Given the description of an element on the screen output the (x, y) to click on. 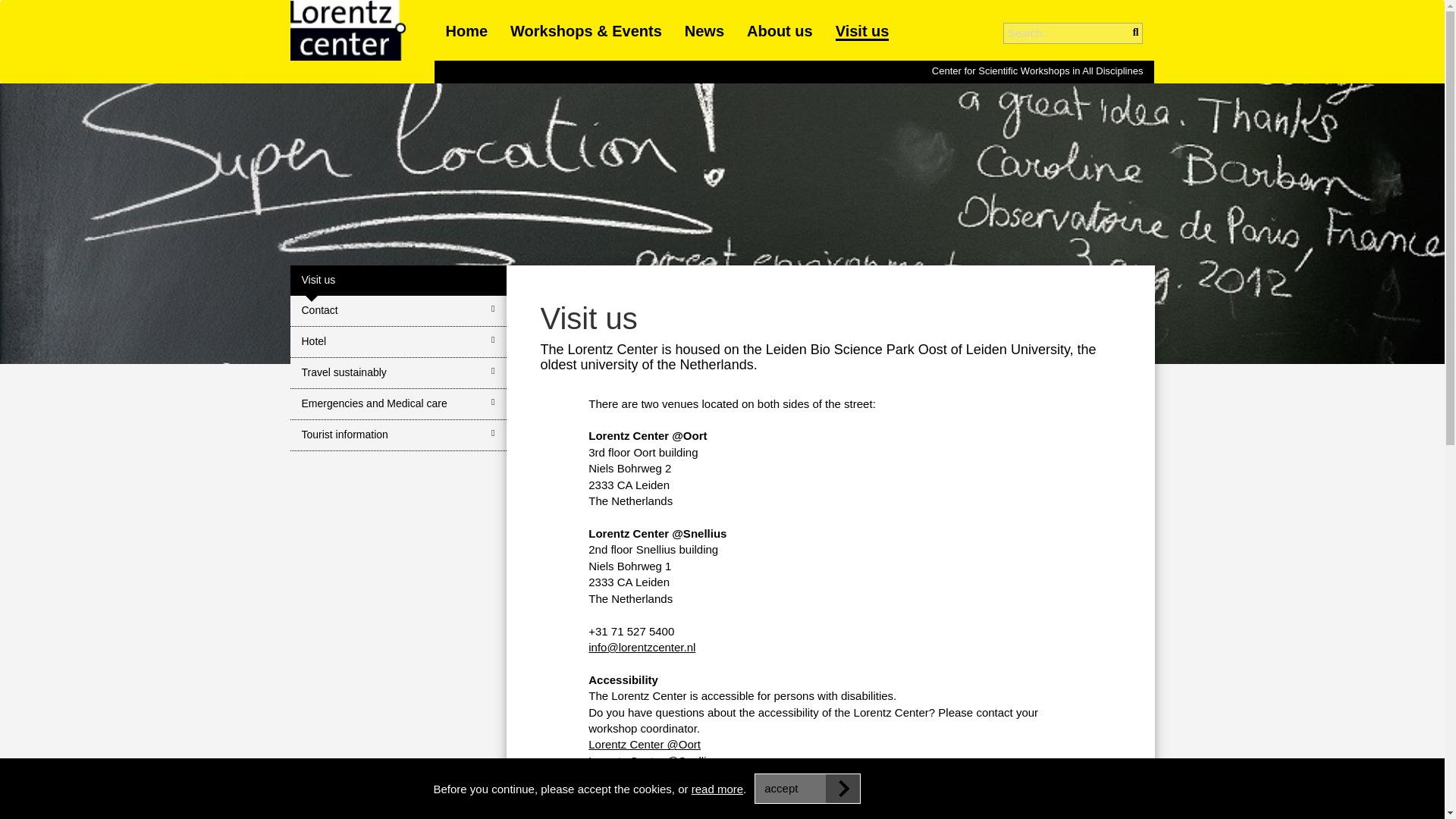
Visit us (397, 280)
accept (807, 788)
Contact (397, 310)
Hotel (397, 341)
read more (716, 788)
About us (779, 30)
Home (361, 41)
Emergencies and Medical care (397, 404)
Home (466, 30)
Visit us (862, 31)
Tourist information (397, 435)
News (703, 30)
read more (716, 788)
Travel sustainably (397, 373)
